Given the description of an element on the screen output the (x, y) to click on. 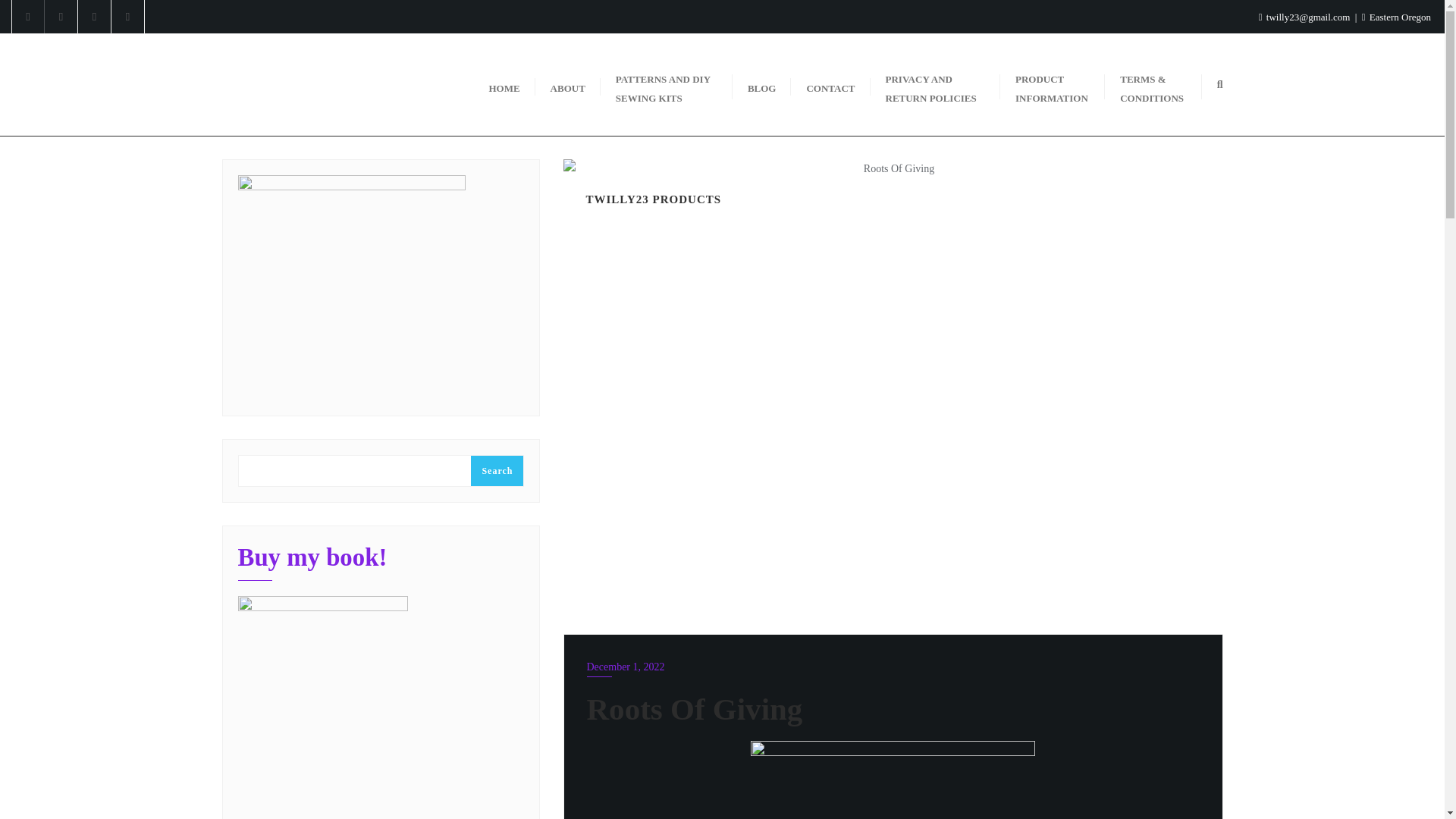
PRIVACY AND RETURN POLICIES (935, 84)
BLOG (762, 83)
ABOUT (567, 83)
Search (496, 470)
PRODUCT INFORMATION (1052, 84)
HOME (503, 83)
PATTERNS AND DIY SEWING KITS (665, 84)
Search (496, 470)
